Given the description of an element on the screen output the (x, y) to click on. 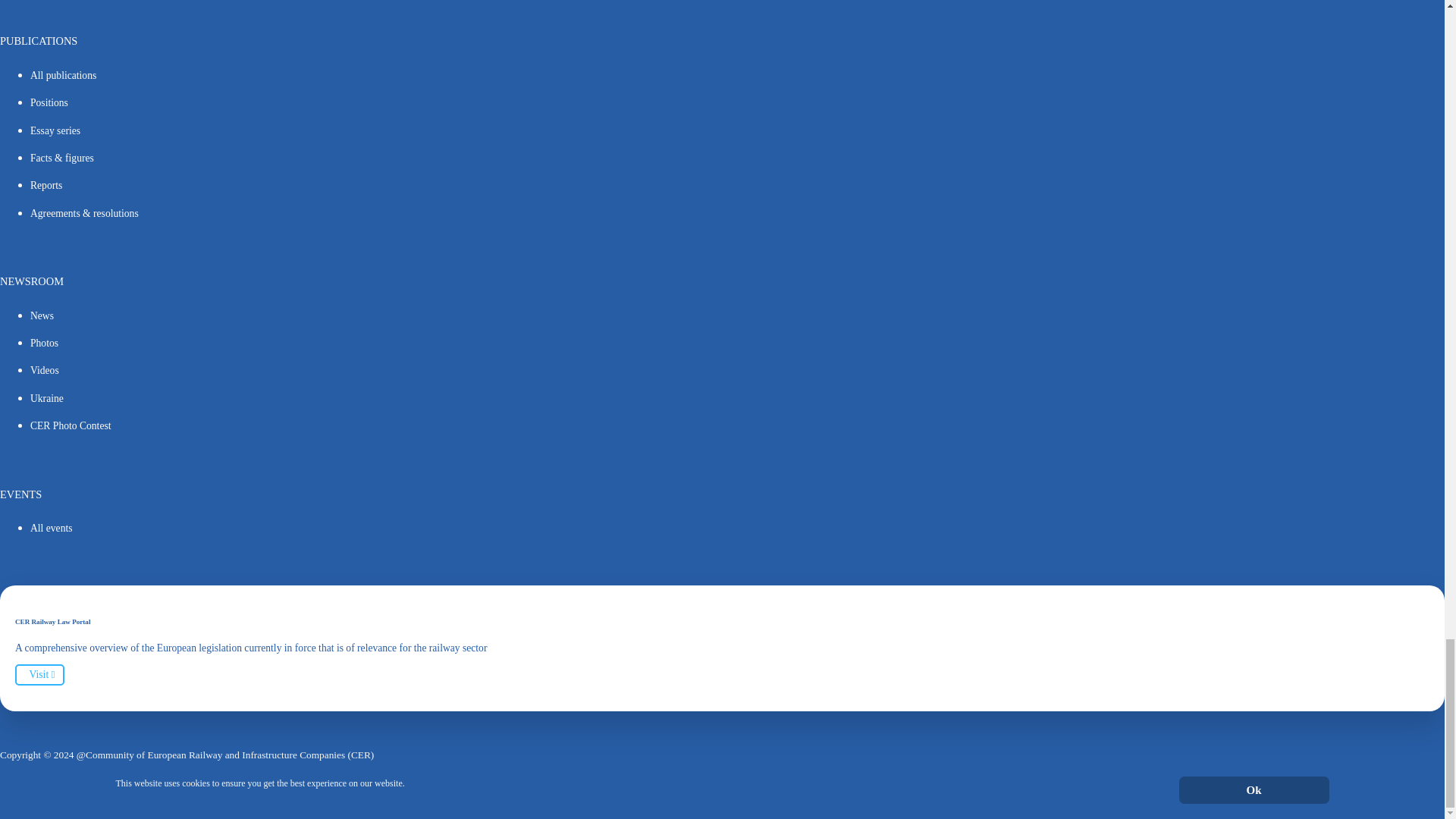
CER Railway Law Portal (39, 674)
